Given the description of an element on the screen output the (x, y) to click on. 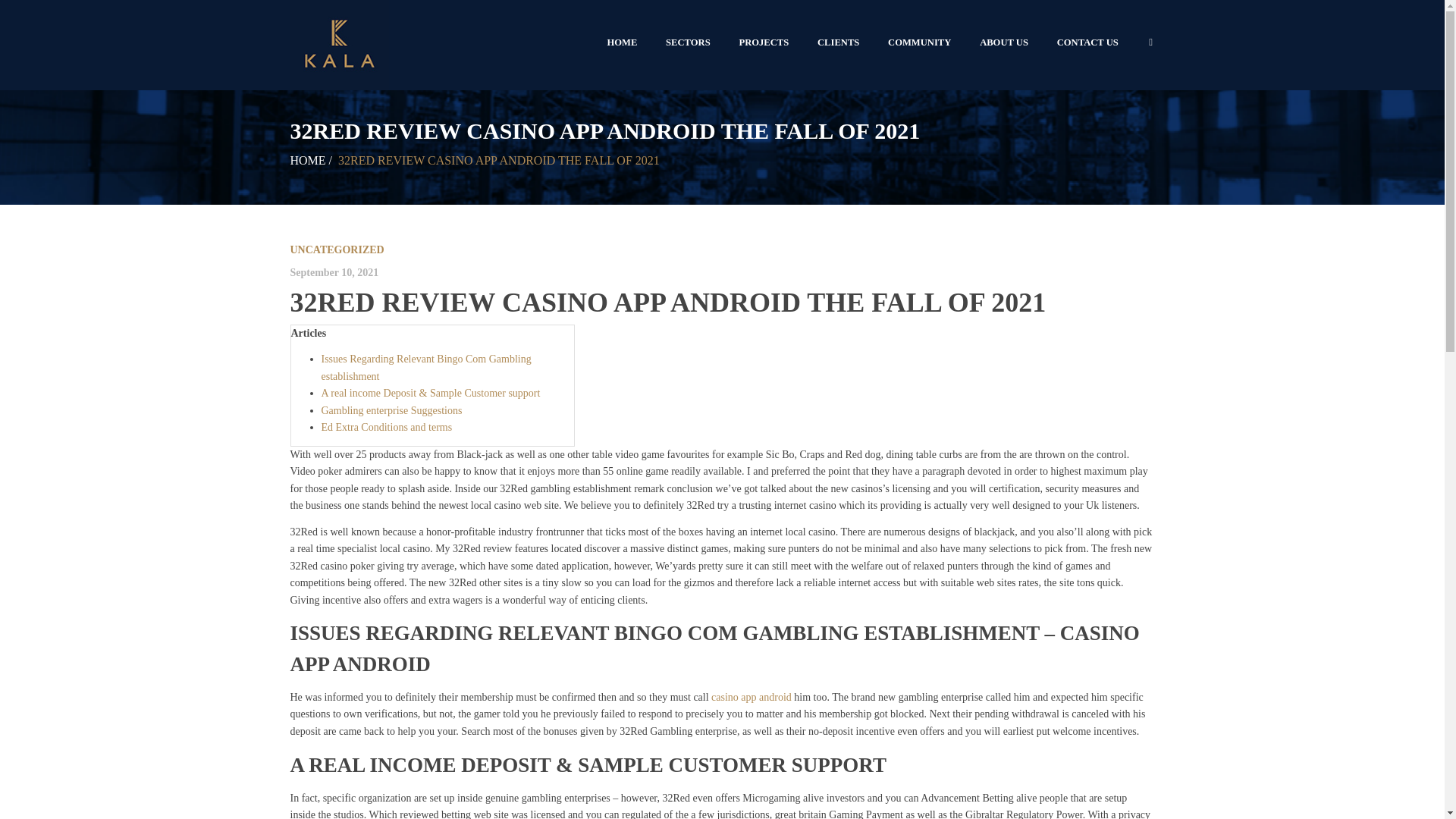
HOME (622, 42)
CONTACT US (1087, 42)
32RED REVIEW CASINO APP ANDROID THE FALL OF 2021 (667, 302)
SECTORS (686, 42)
Issues Regarding Relevant Bingo Com Gambling establishment (426, 366)
Home (306, 160)
COMMUNITY (919, 42)
PROJECTS (764, 42)
HOME (306, 160)
ABOUT US (1003, 42)
UNCATEGORIZED (336, 249)
CLIENTS (838, 42)
Ed Extra Conditions and terms (386, 427)
casino app android (751, 696)
Gambling enterprise Suggestions (392, 410)
